Given the description of an element on the screen output the (x, y) to click on. 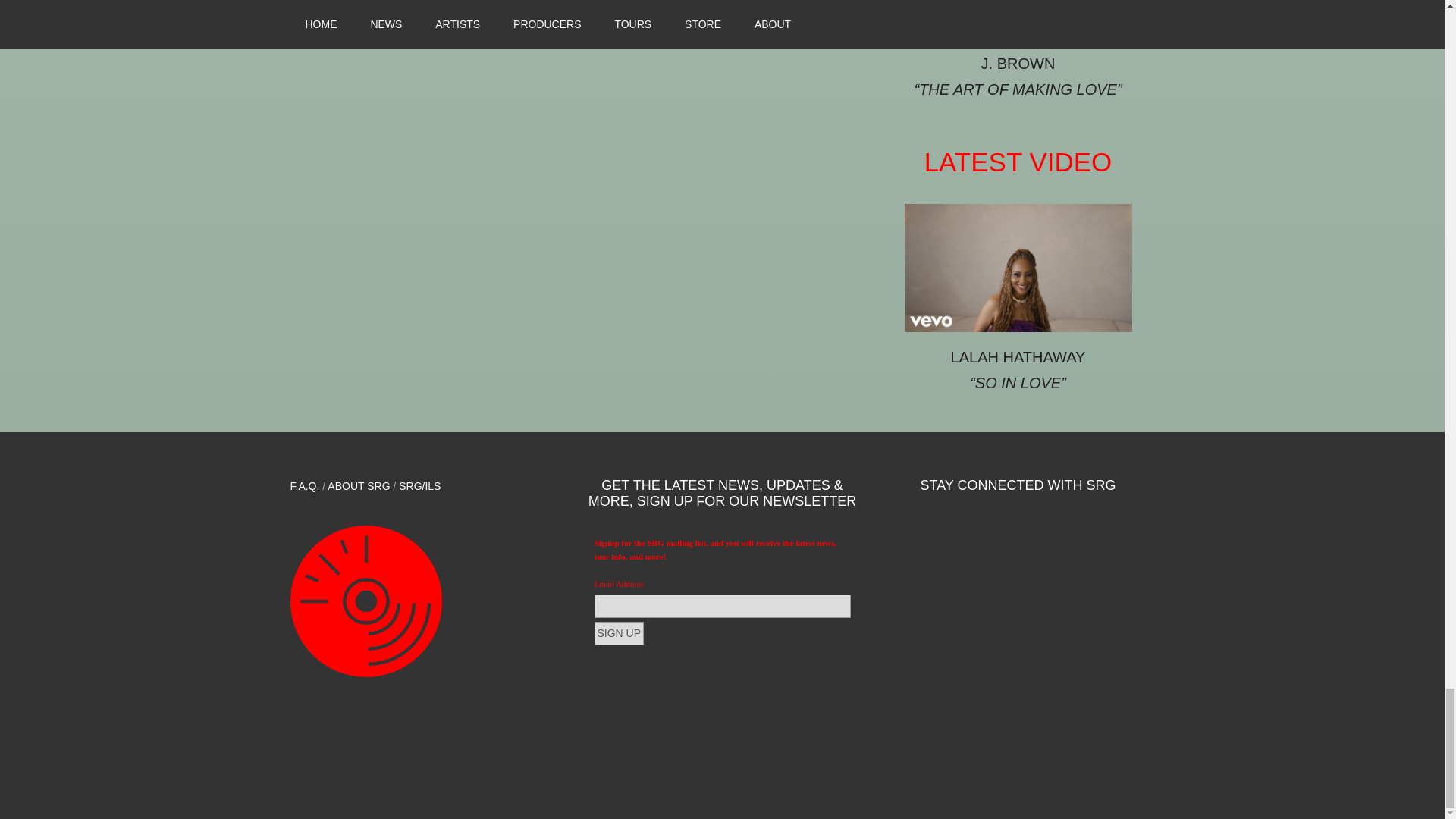
Sign Up (619, 633)
Sign Up (619, 633)
F.A.Q. (303, 485)
ABOUT SRG (358, 485)
